Given the description of an element on the screen output the (x, y) to click on. 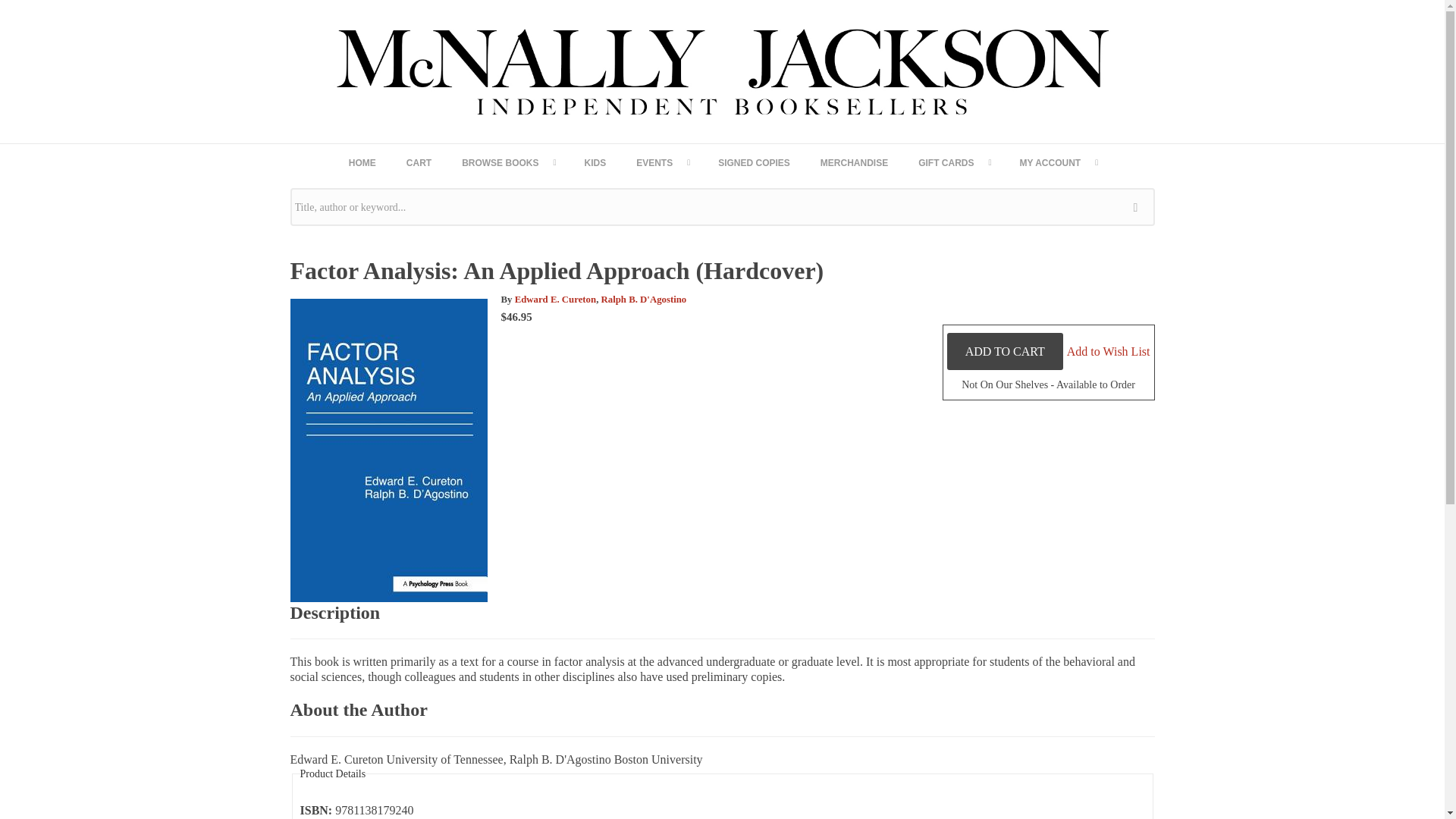
SIGNED COPIES (754, 162)
BROWSE BOOKS (507, 162)
GIFT CARDS (953, 162)
Ralph B. D'Agostino (644, 299)
Edward E. Cureton (555, 299)
EVENTS (662, 162)
HOME (362, 162)
MERCHANDISE (853, 162)
Add to Cart (1004, 351)
MY ACCOUNT (1058, 162)
Title, author or keyword... (721, 207)
KIDS (595, 162)
Add to Wish List (1108, 350)
Add to Cart (1004, 351)
